Given the description of an element on the screen output the (x, y) to click on. 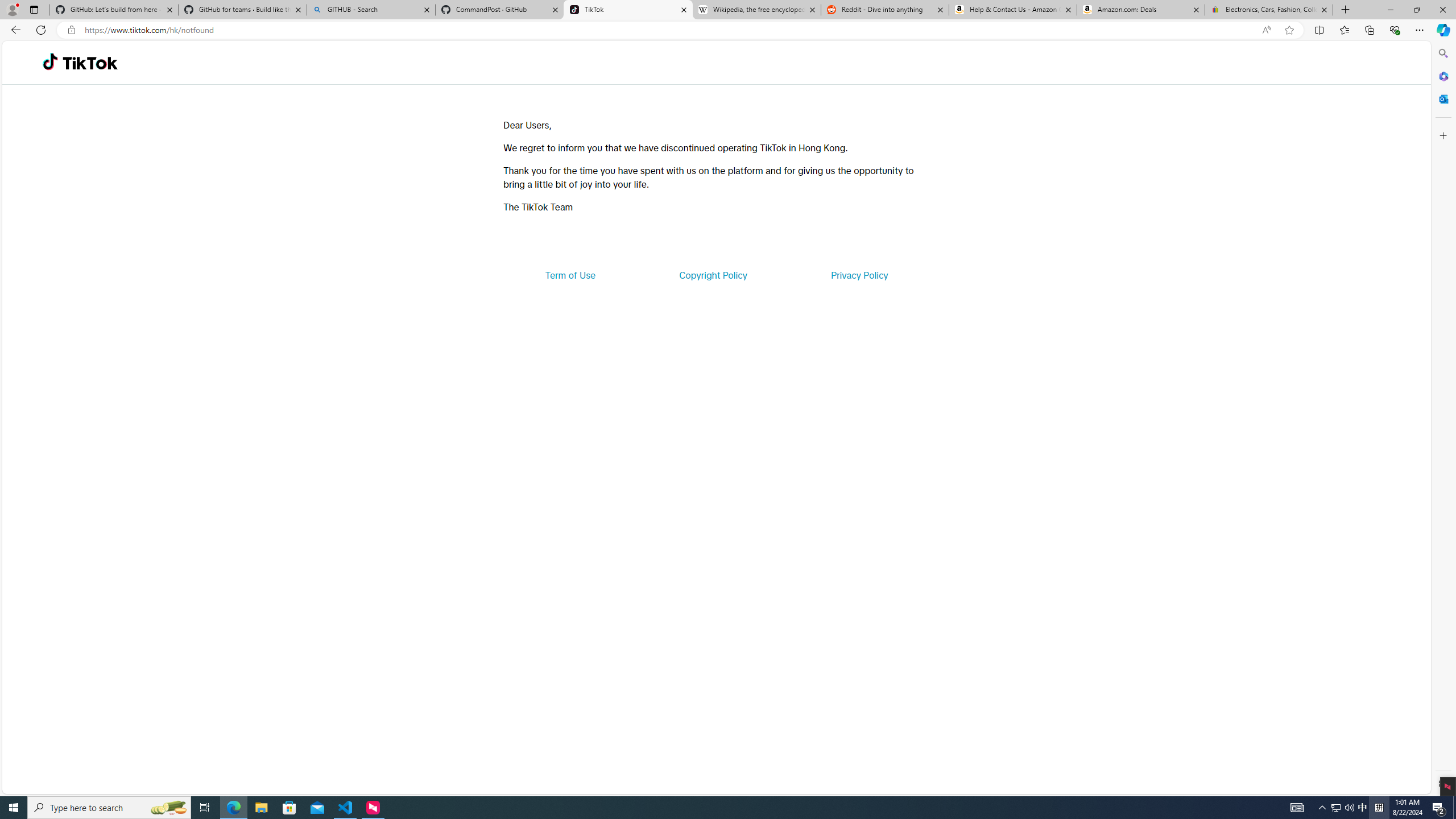
GITHUB - Search (370, 9)
Amazon.com: Deals (1140, 9)
